Given the description of an element on the screen output the (x, y) to click on. 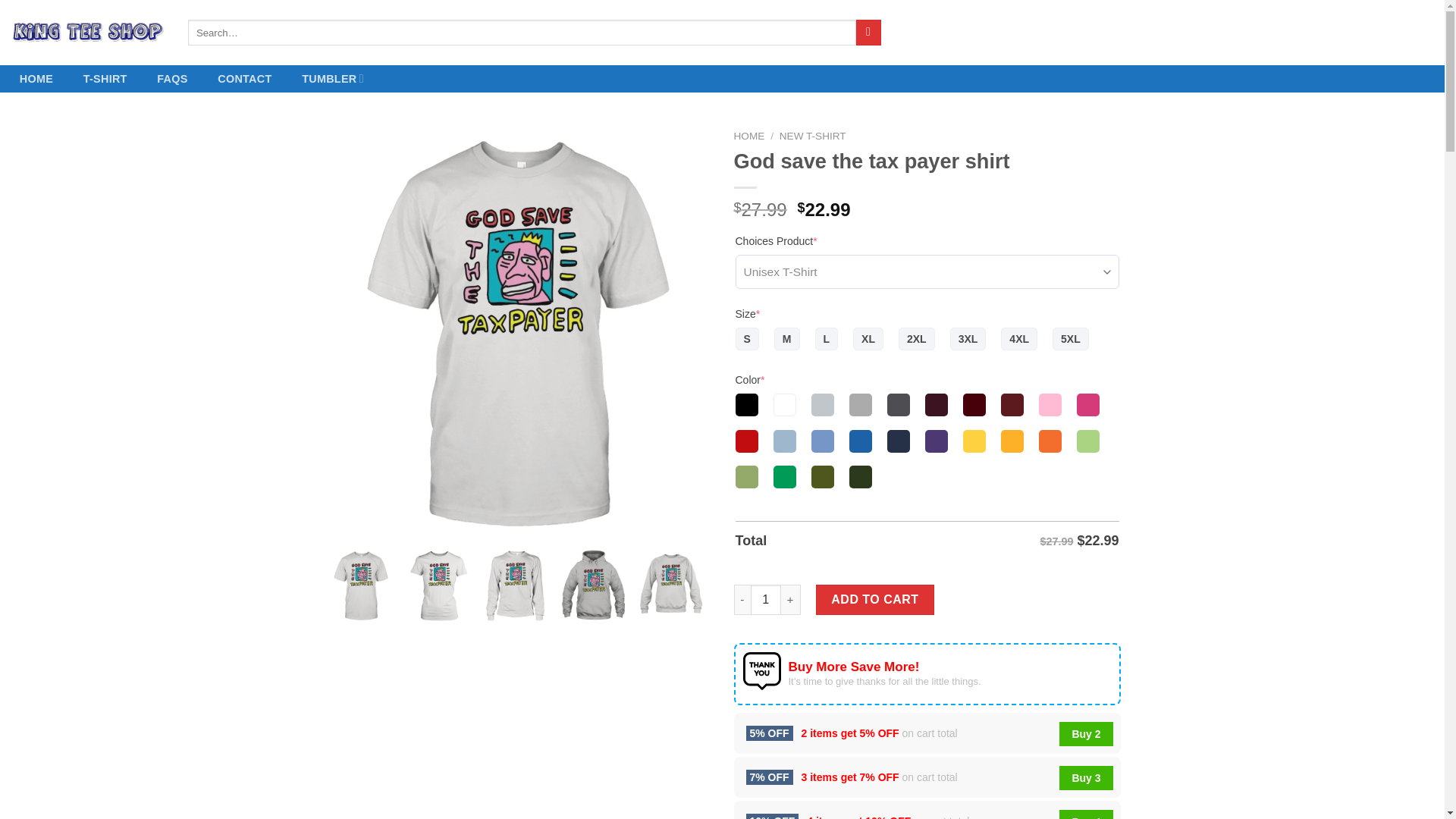
ADD TO CART (874, 599)
Qty (765, 599)
HOME (749, 135)
TUMBLER (332, 78)
T-SHIRT (105, 78)
FAQS (171, 78)
1 (765, 599)
KING TEE STORE (88, 32)
Cart (1387, 32)
CONTACT (244, 78)
